Given the description of an element on the screen output the (x, y) to click on. 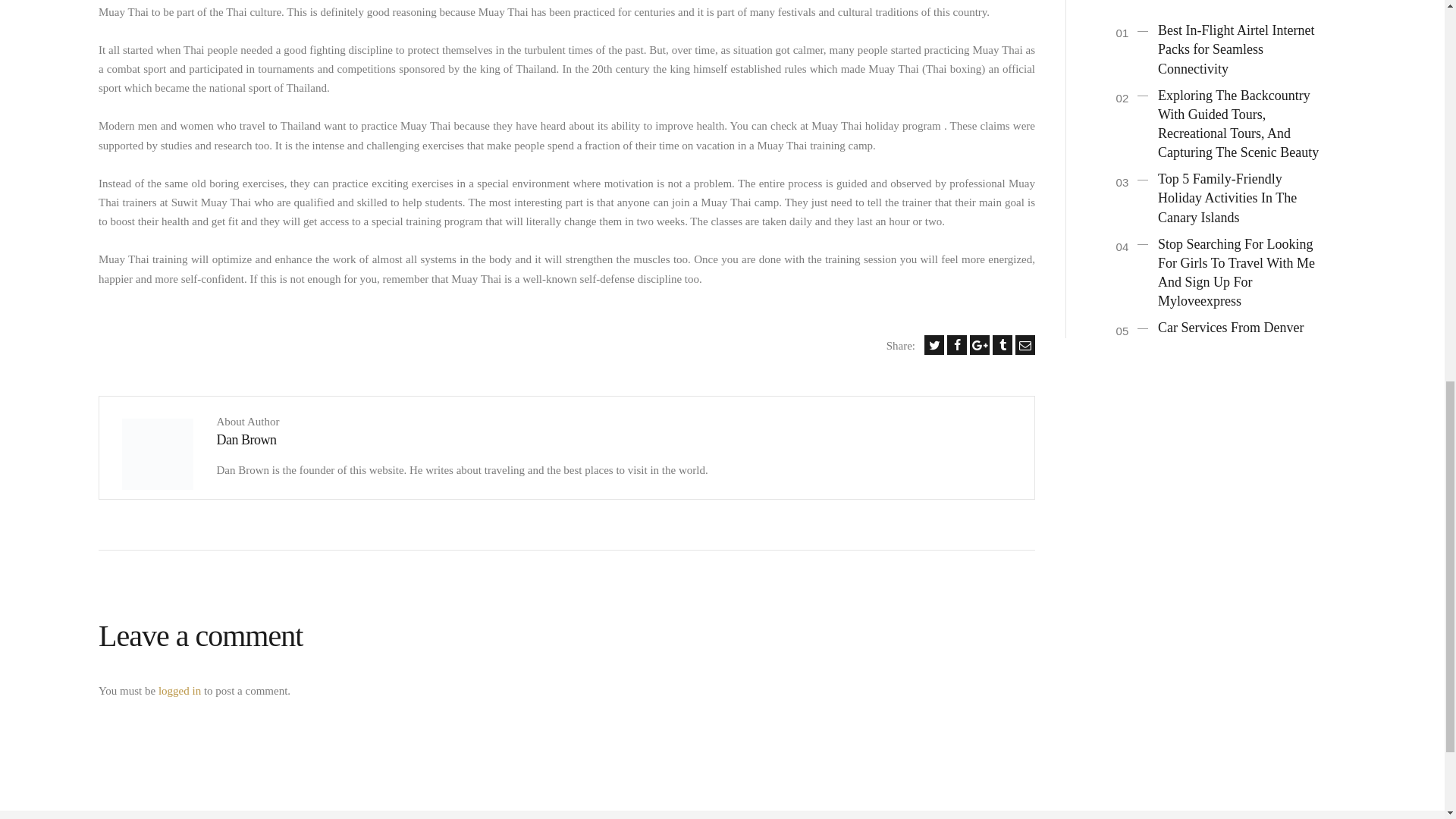
logged in (179, 690)
Car Services From Denver (1230, 327)
